Given the description of an element on the screen output the (x, y) to click on. 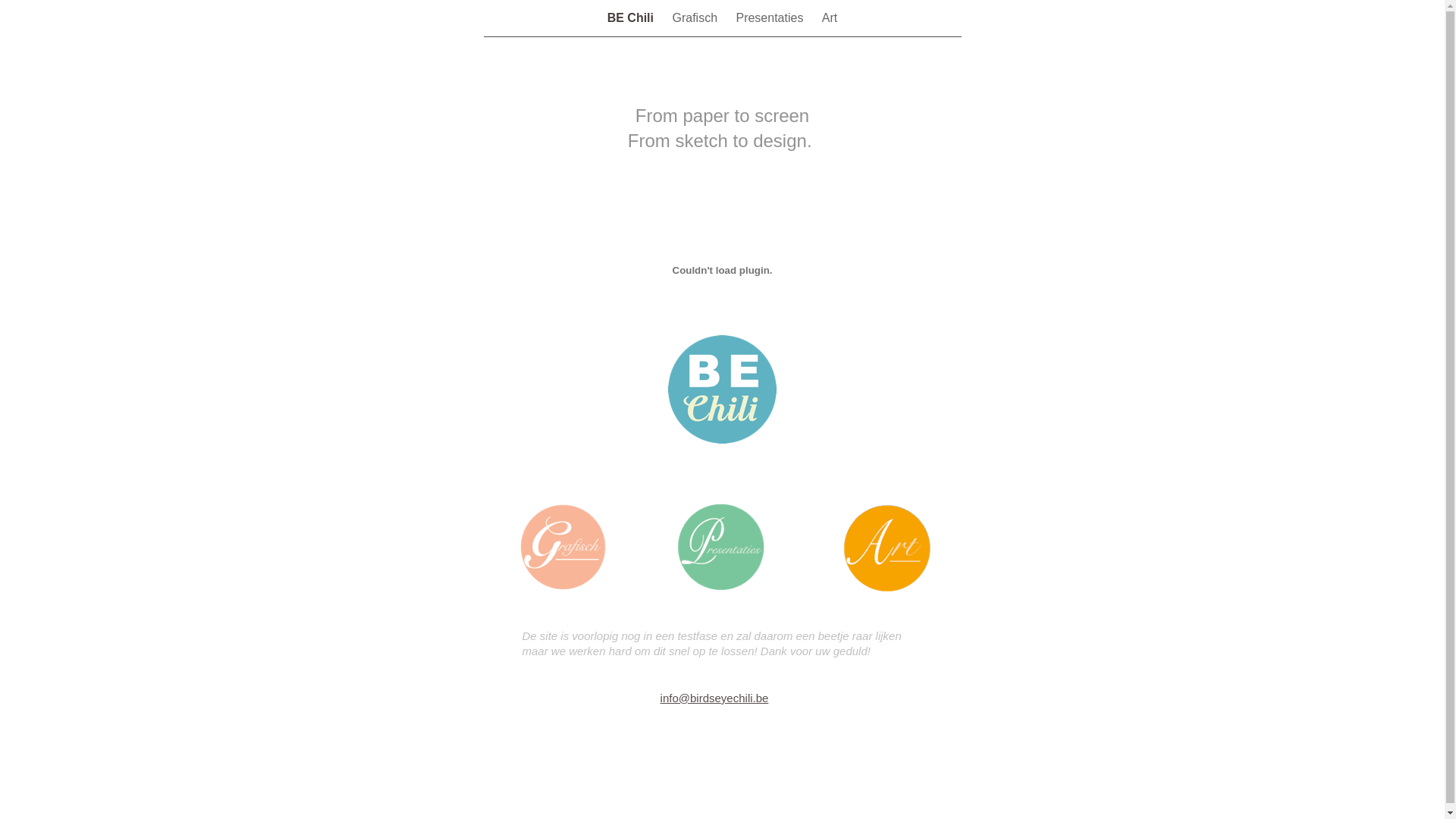
Presentaties Element type: text (770, 17)
Grafisch Element type: text (695, 17)
info@birdseyechili.be Element type: text (714, 697)
BE Chili Element type: text (632, 17)
Art Element type: text (829, 17)
